Given the description of an element on the screen output the (x, y) to click on. 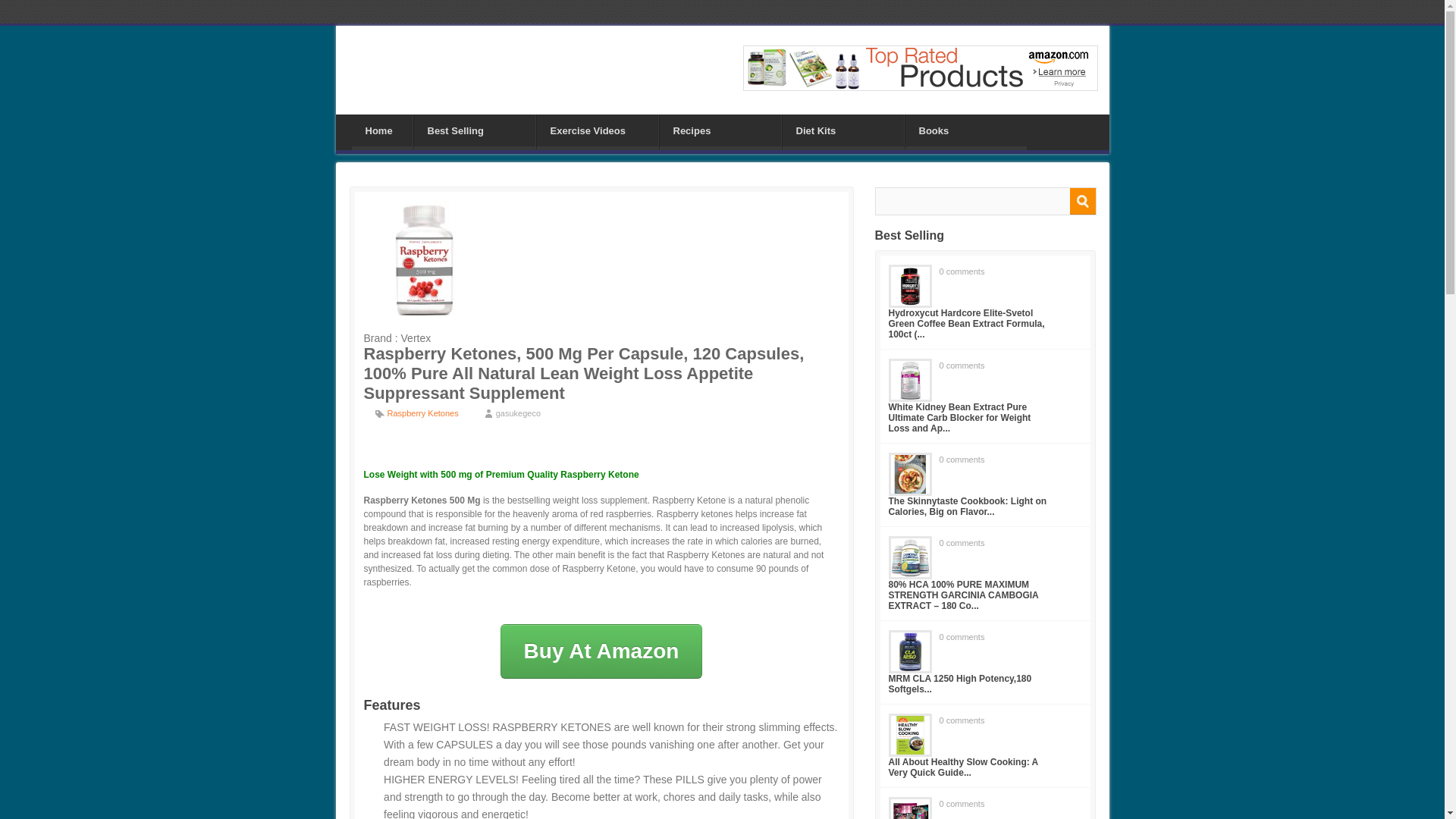
Books (965, 130)
0 comments (961, 365)
Home (382, 130)
Diet Kits (843, 130)
Raspberry Ketones (422, 412)
Search (1081, 201)
Best Selling (474, 130)
0 comments (961, 542)
Search (1081, 201)
Exercise Videos (597, 130)
Buy At Amazon (601, 651)
Recipes (719, 130)
0 comments (961, 459)
